Given the description of an element on the screen output the (x, y) to click on. 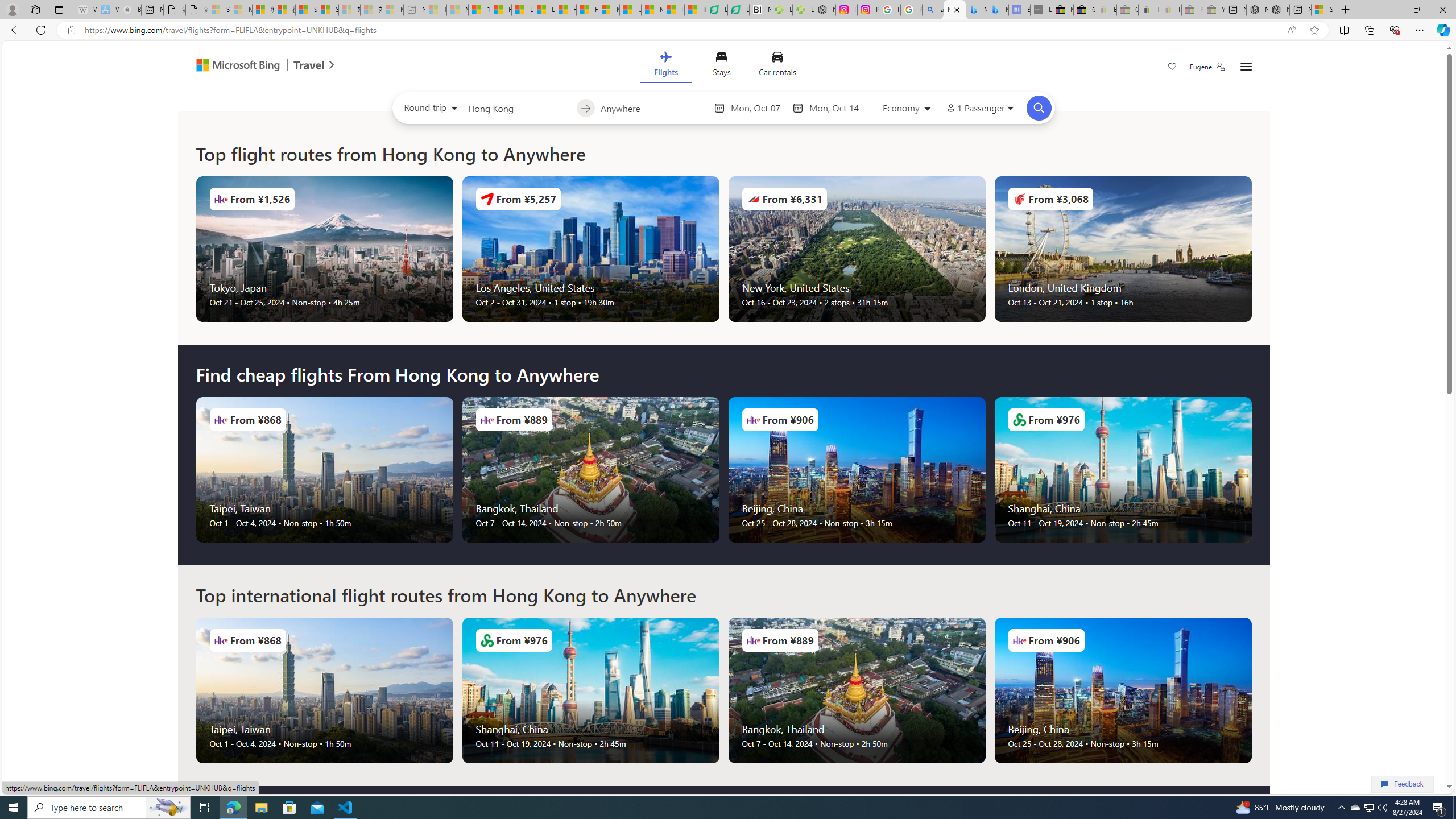
Top Stories - MSN - Sleeping (435, 9)
Microsoft account | Account Checkup - Sleeping (392, 9)
Airlines Logo (1018, 640)
Threats and offensive language policy | eBay (1149, 9)
Descarga Driver Updater (802, 9)
Marine life - MSN - Sleeping (457, 9)
Eugene (1206, 66)
Flights (665, 65)
1 Passenger (979, 108)
Yard, Garden & Outdoor Living - Sleeping (1214, 9)
